Given the description of an element on the screen output the (x, y) to click on. 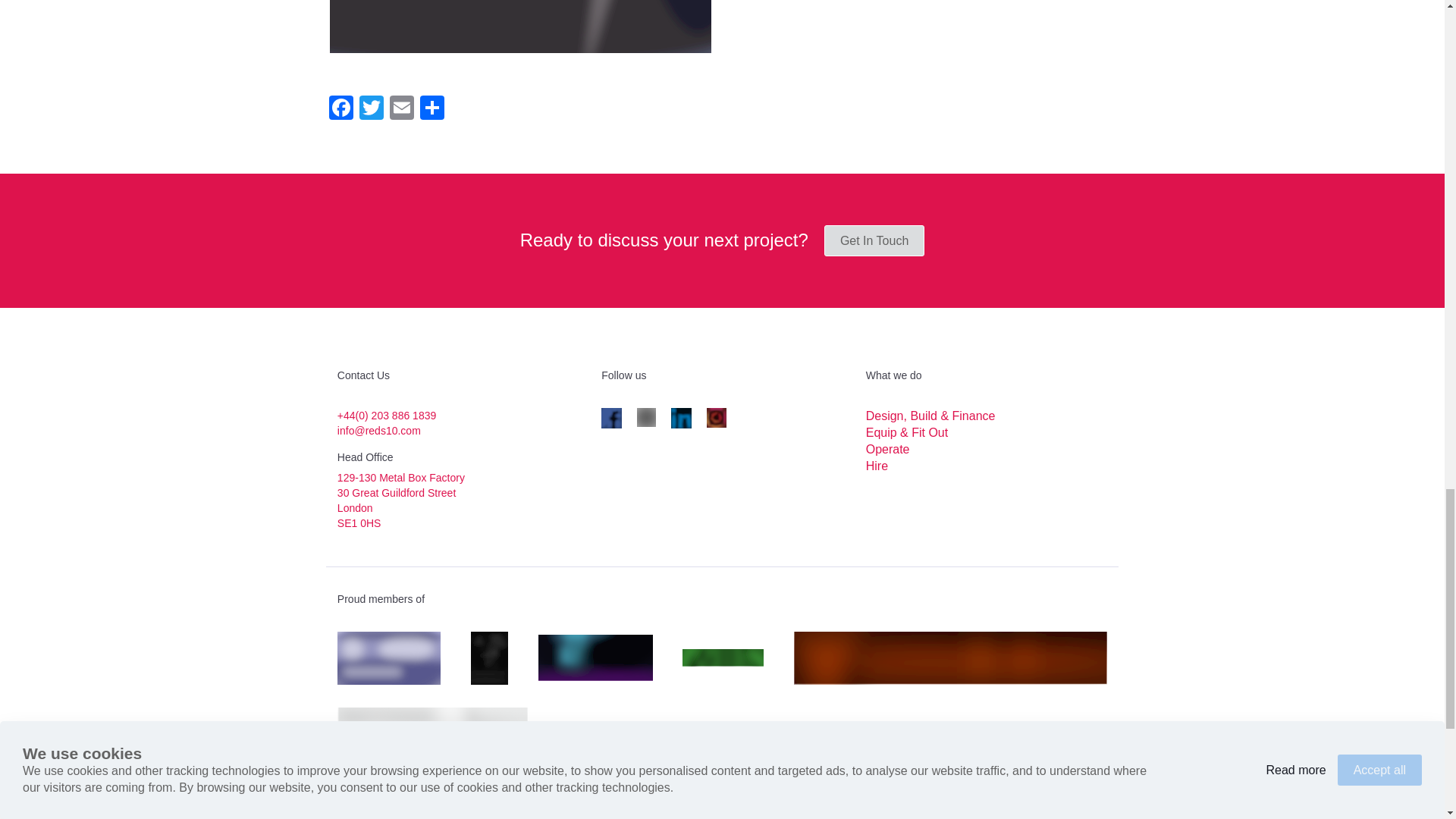
Twitter (371, 109)
Phone us (386, 415)
Email (401, 109)
Email us (378, 430)
Email (401, 109)
Facebook (341, 109)
Twitter (371, 109)
Facebook (341, 109)
Share (431, 109)
